Given the description of an element on the screen output the (x, y) to click on. 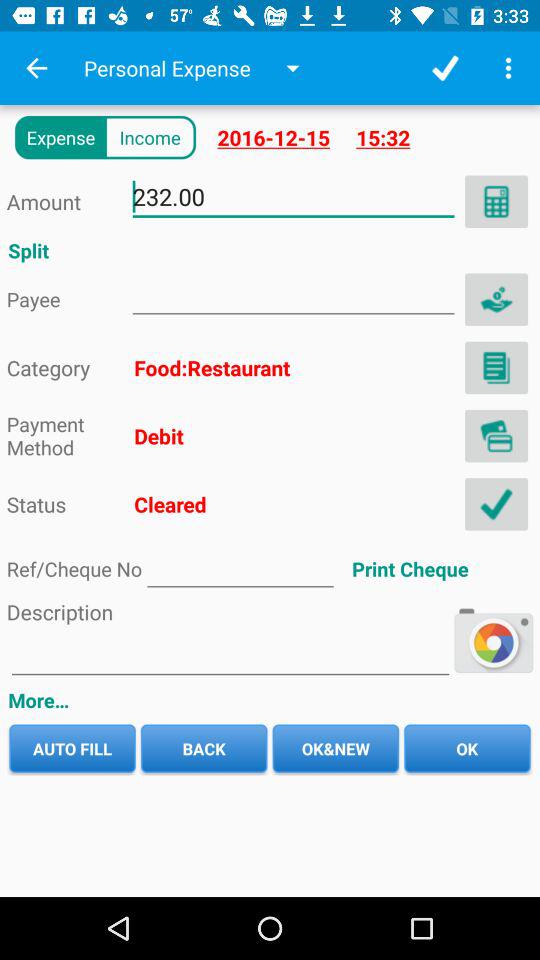
split (293, 294)
